Given the description of an element on the screen output the (x, y) to click on. 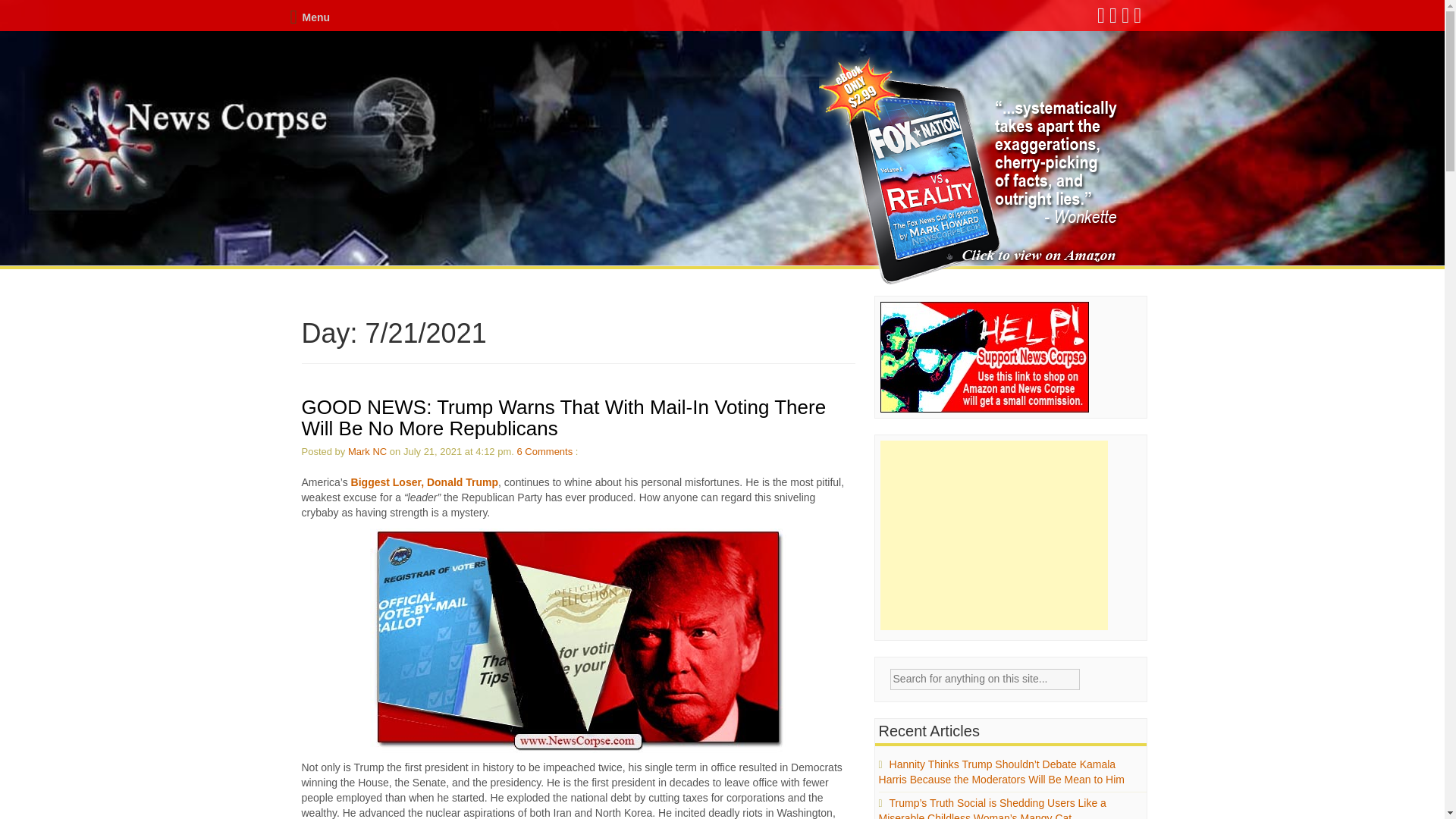
Menu (309, 17)
Fox Nation vs. Reality (971, 170)
Mark NC (367, 451)
Posts by Mark NC (367, 451)
Biggest Loser, Donald Trump (423, 481)
Advertisement (994, 534)
Comments (548, 451)
